Given the description of an element on the screen output the (x, y) to click on. 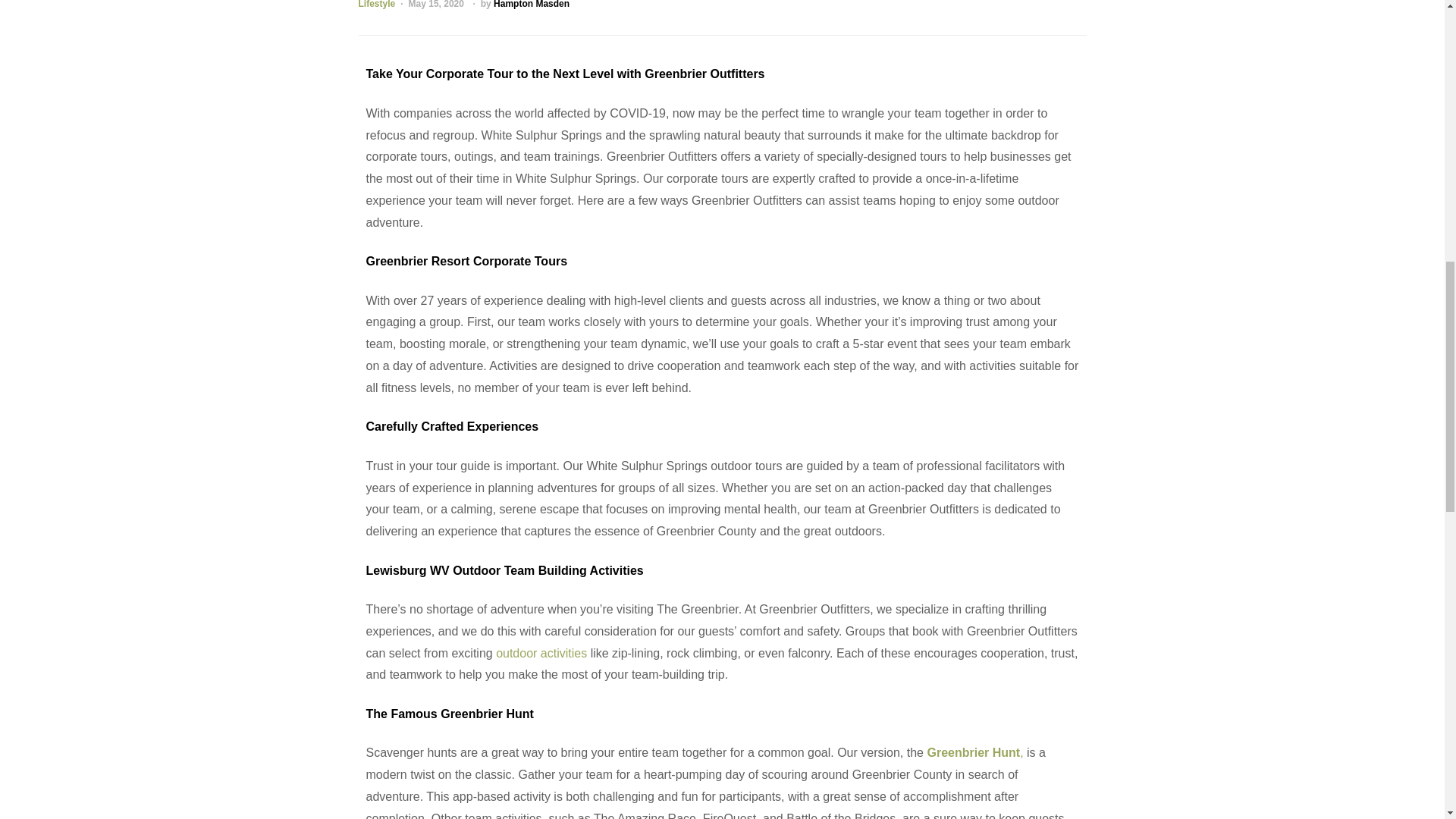
May 15, 2020 (436, 4)
Hampton Masden (531, 4)
Lifestyle (376, 4)
Greenbrier Hunt (973, 752)
outdoor activities (541, 653)
